Given the description of an element on the screen output the (x, y) to click on. 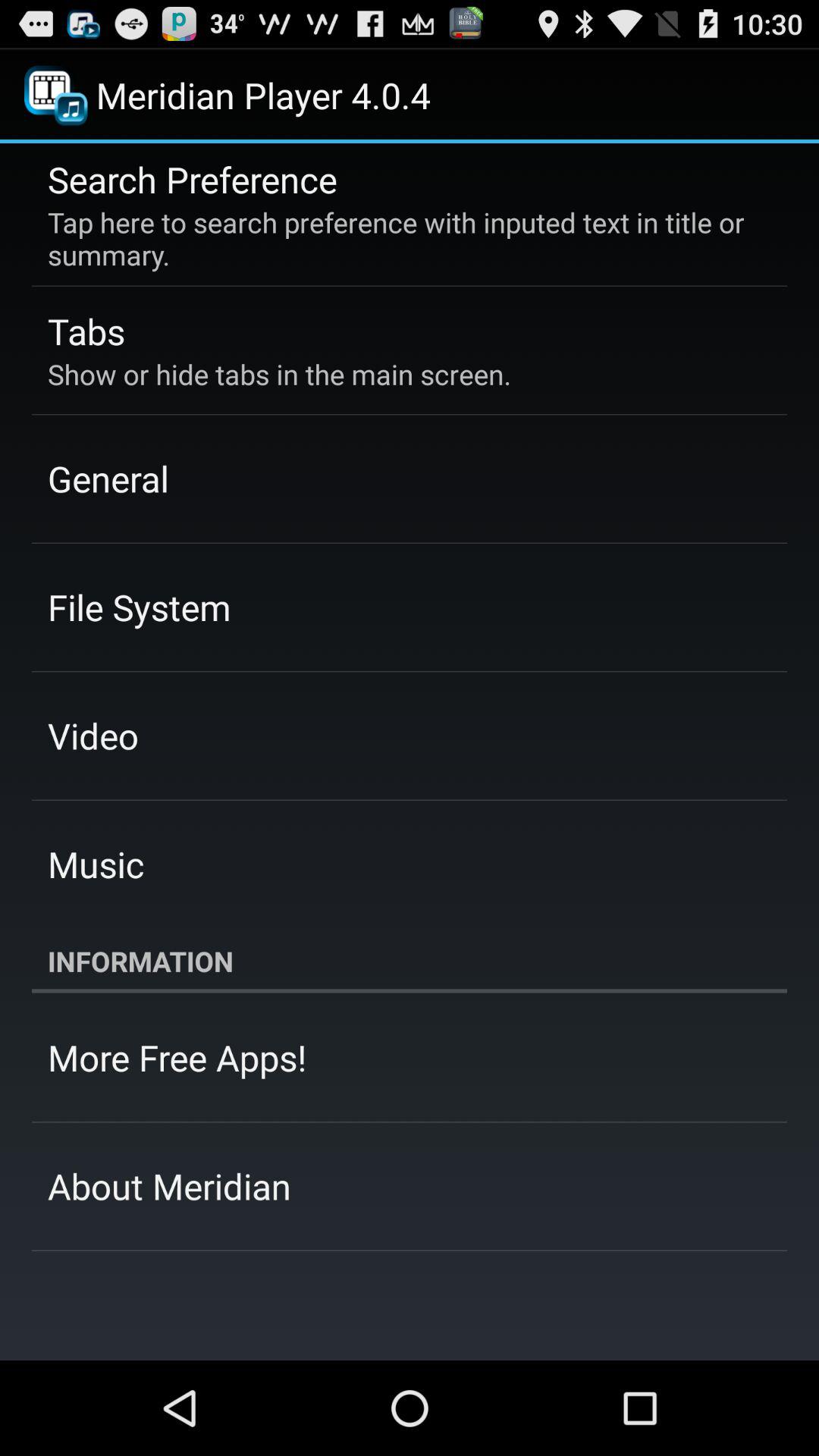
jump to the music (95, 864)
